Given the description of an element on the screen output the (x, y) to click on. 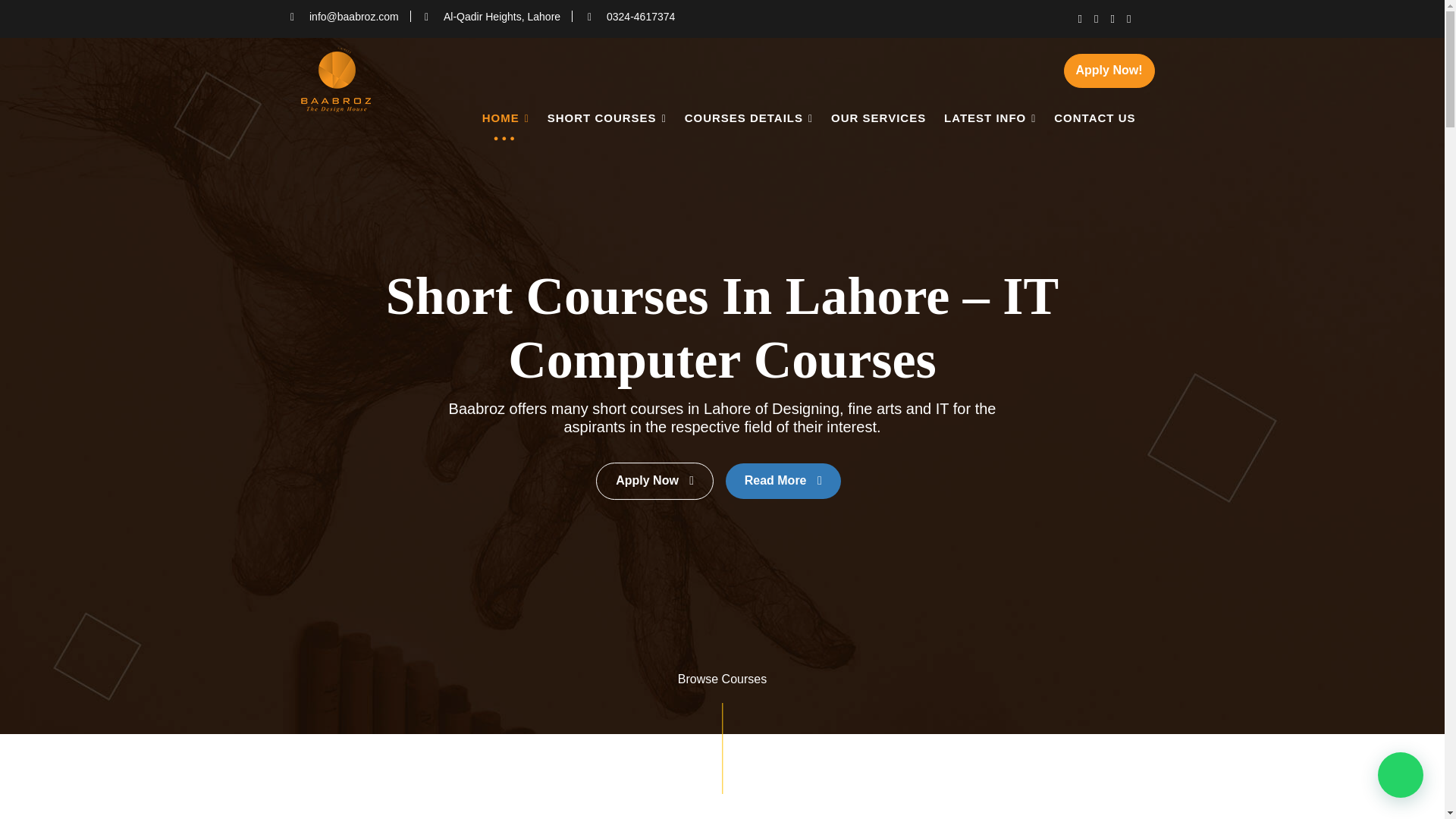
OUR SERVICES (878, 117)
LATEST INFO (989, 118)
COURSES DETAILS (749, 118)
HOME (505, 118)
SHORT COURSES (607, 118)
Browse Courses (722, 679)
Apply Now! (1108, 70)
